Given the description of an element on the screen output the (x, y) to click on. 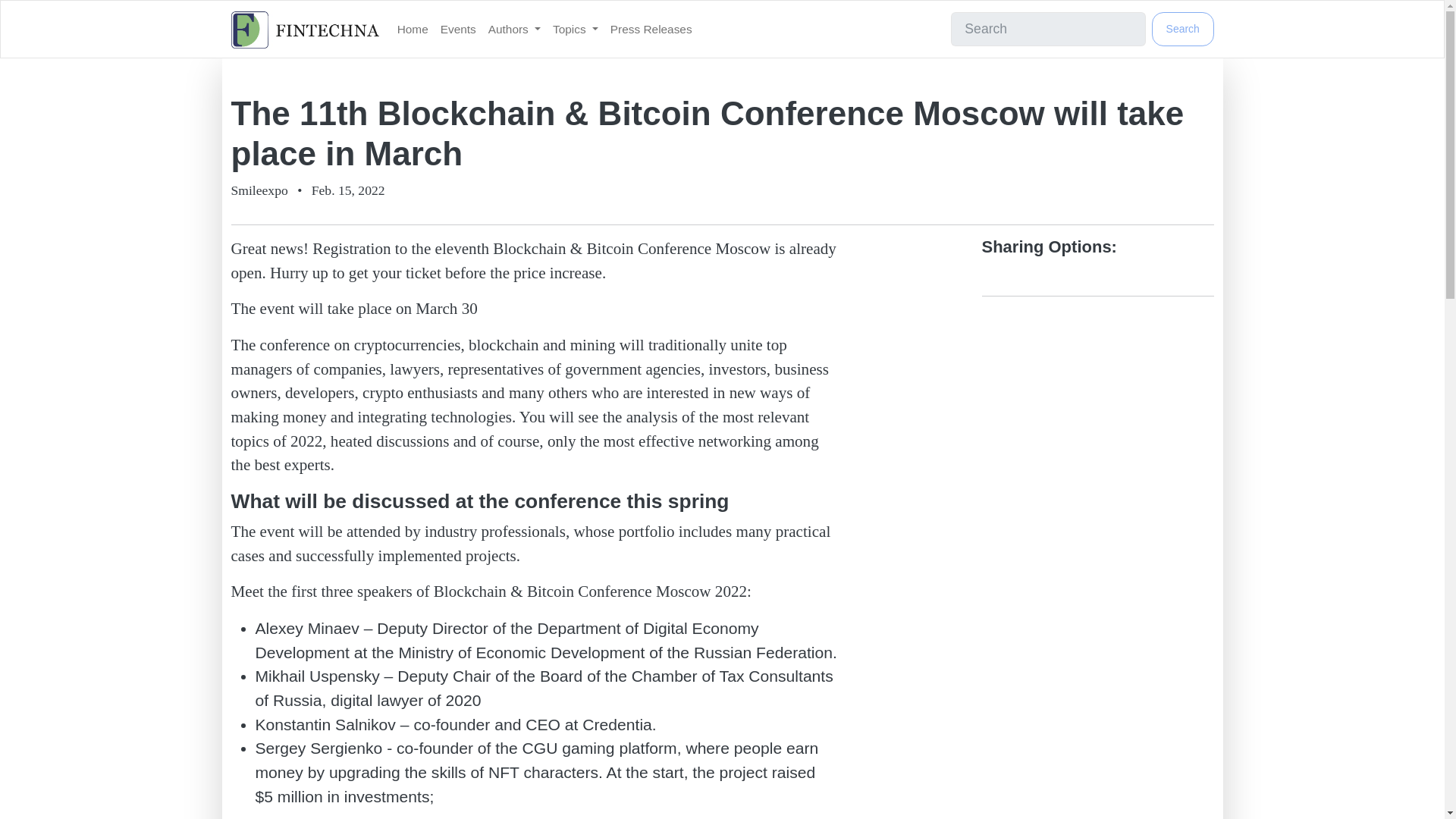
Home (412, 29)
Events (457, 29)
Authors (514, 29)
